Given the description of an element on the screen output the (x, y) to click on. 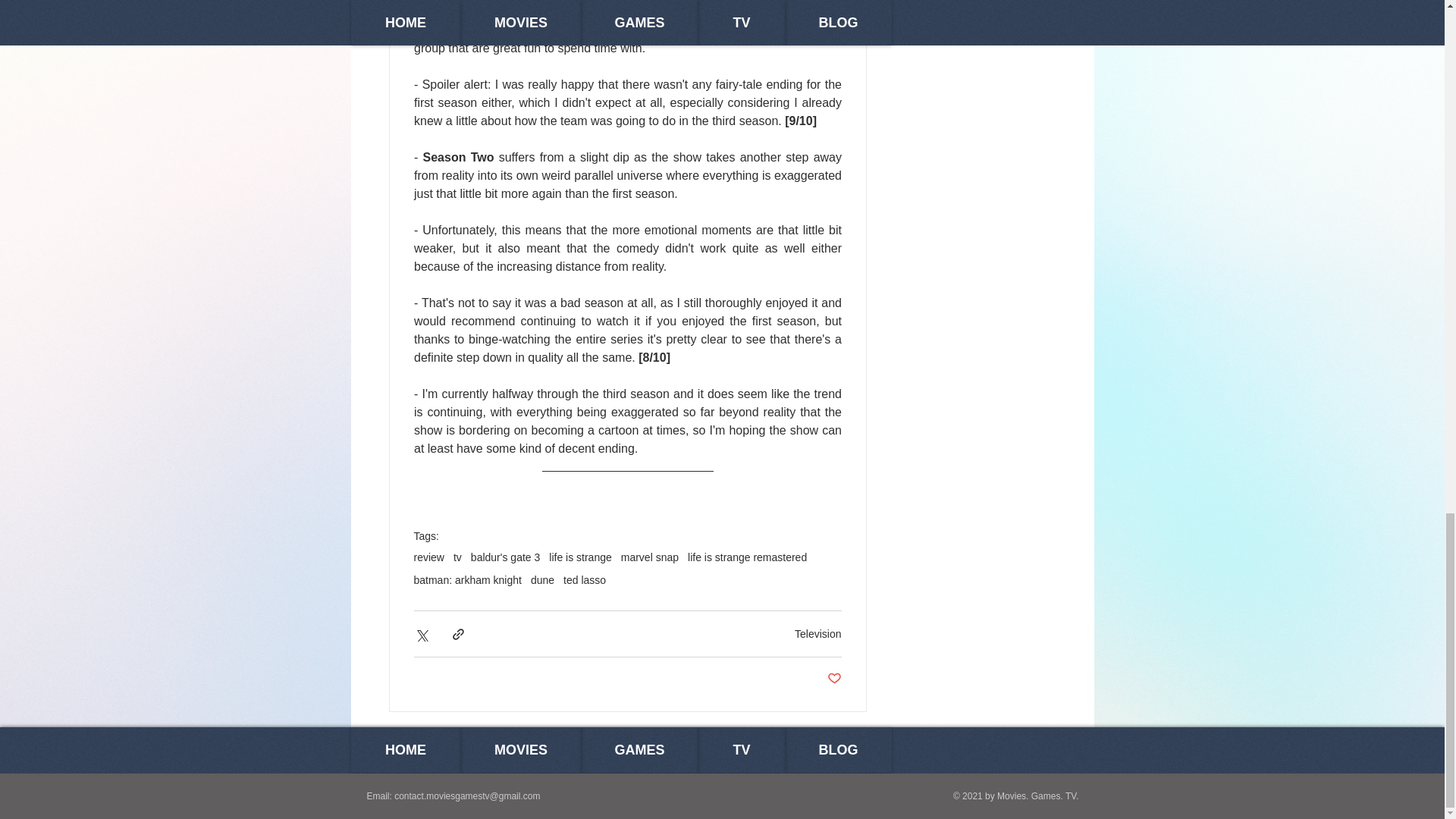
dune (542, 580)
Television (817, 633)
GAMES (638, 750)
life is strange remastered (746, 557)
baldur's gate 3 (505, 557)
marvel snap (649, 557)
BLOG (838, 750)
life is strange (579, 557)
ted lasso (584, 580)
batman: arkham knight (467, 580)
HOME (405, 750)
MOVIES (520, 750)
review (428, 557)
Post not marked as liked (834, 678)
TV (740, 750)
